Given the description of an element on the screen output the (x, y) to click on. 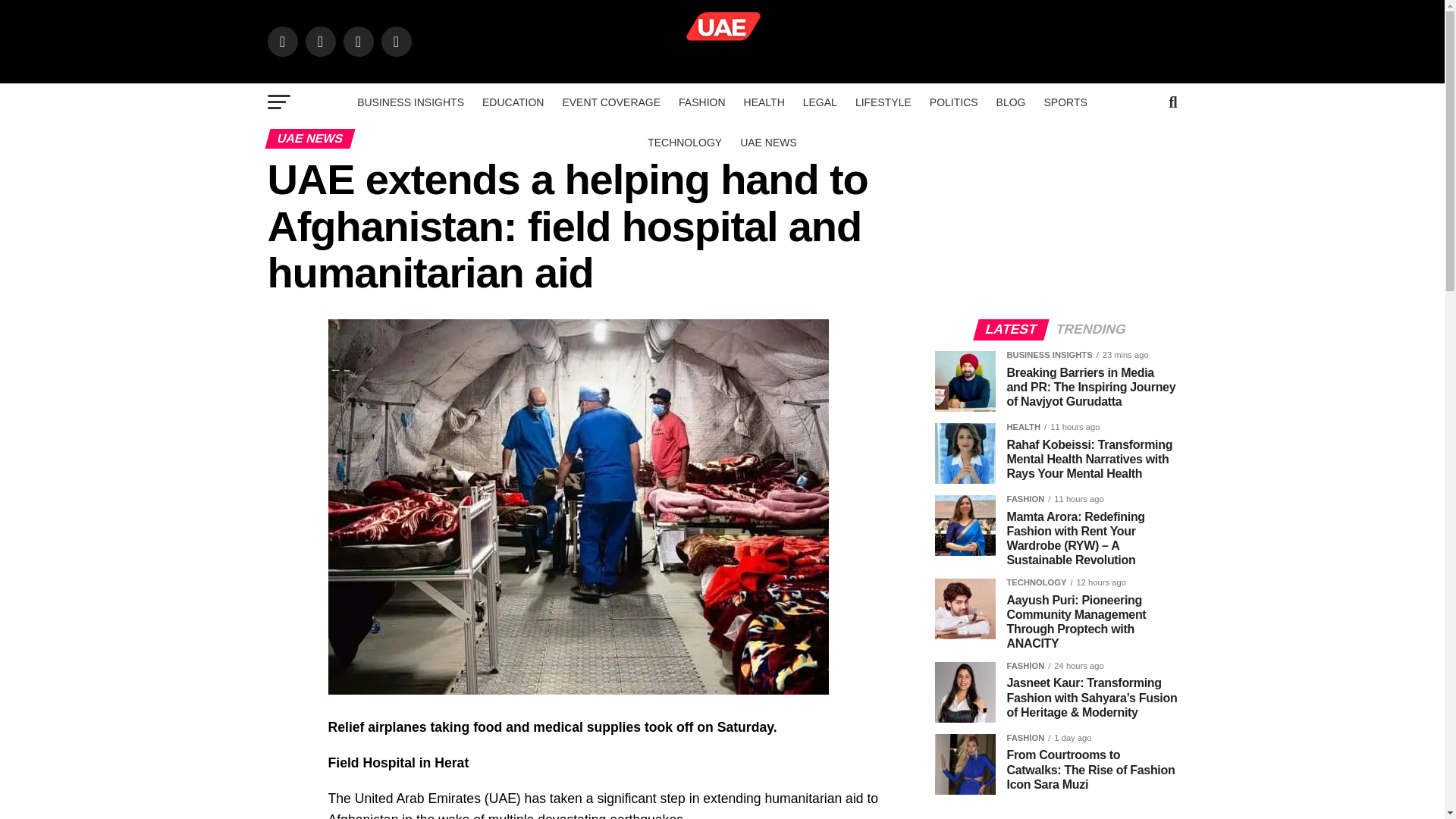
BUSINESS INSIGHTS (410, 102)
EVENT COVERAGE (611, 102)
FASHION (701, 102)
EDUCATION (513, 102)
